Given the description of an element on the screen output the (x, y) to click on. 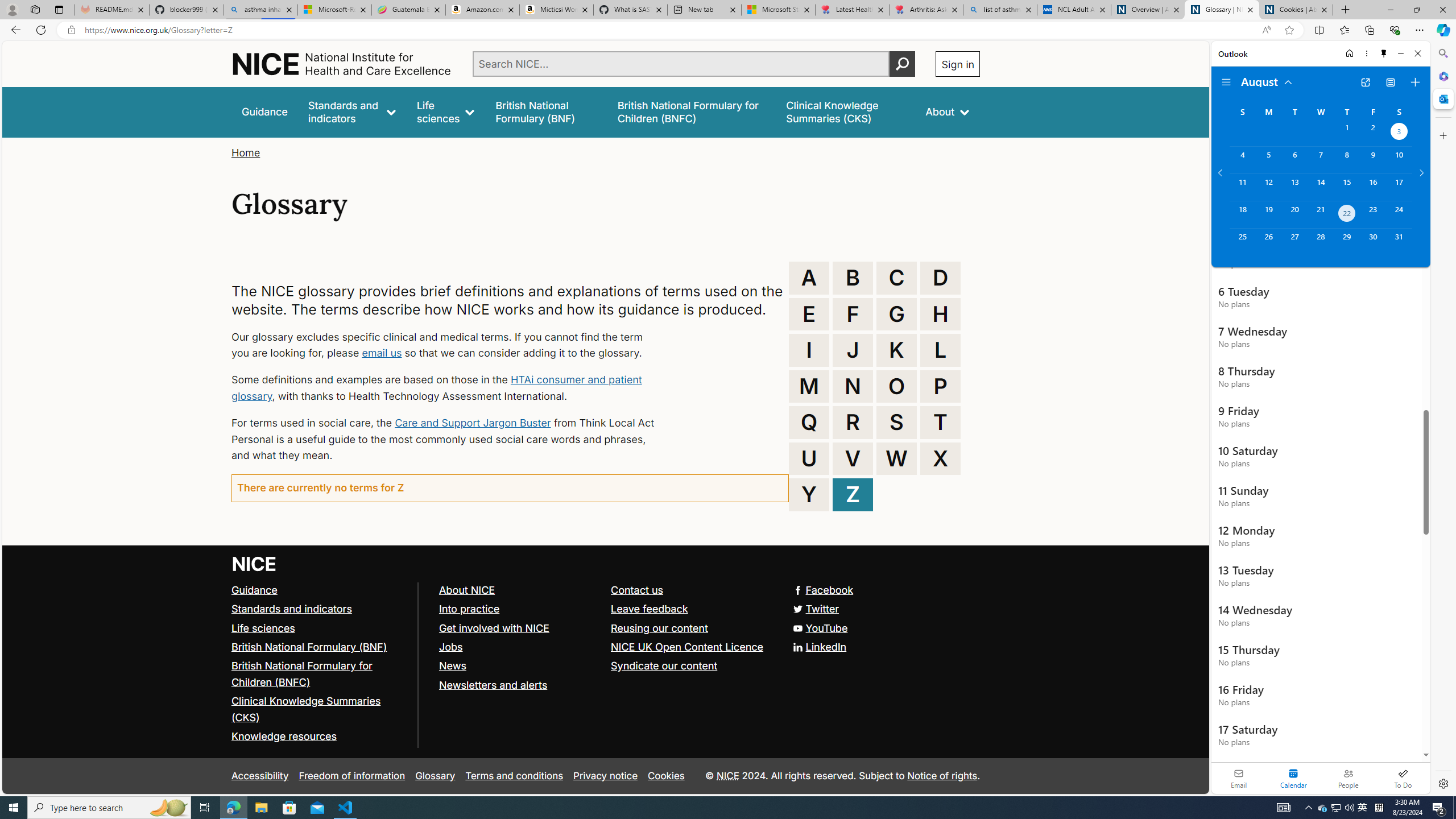
Facebook (605, 589)
G (896, 313)
T (940, 422)
B (852, 277)
Tuesday, August 20, 2024.  (1294, 214)
Tuesday, August 27, 2024.  (1294, 241)
Jobs (518, 647)
K (896, 350)
C (896, 277)
NICE UK Open Content Licence (687, 646)
Thursday, August 15, 2024.  (1346, 186)
Monday, August 5, 2024.  (1268, 159)
